Given the description of an element on the screen output the (x, y) to click on. 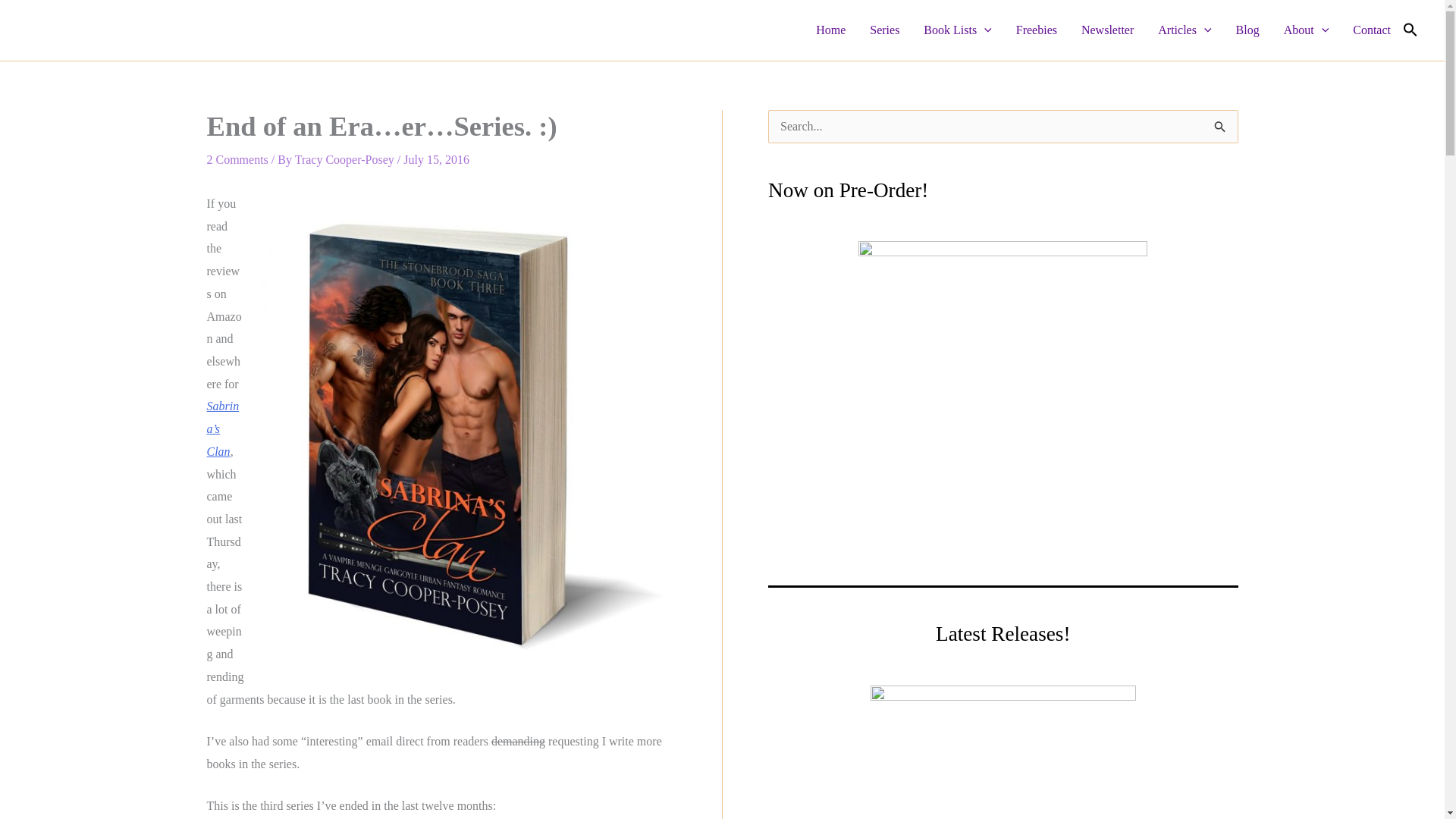
About (1305, 30)
Book Lists (957, 30)
Contact (1371, 30)
Articles (1184, 30)
Newsletter (1106, 30)
Freebies (1036, 30)
View all posts by Tracy Cooper-Posey (346, 159)
